Given the description of an element on the screen output the (x, y) to click on. 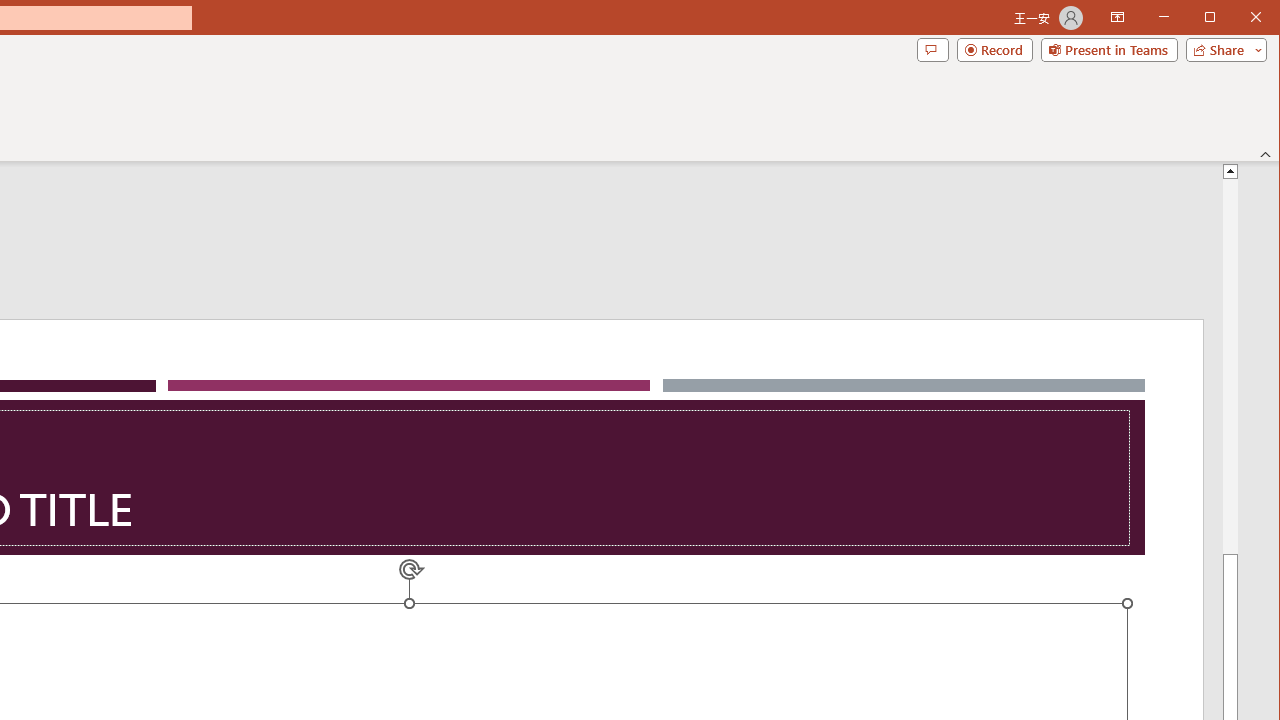
Maximize (1238, 18)
